Given the description of an element on the screen output the (x, y) to click on. 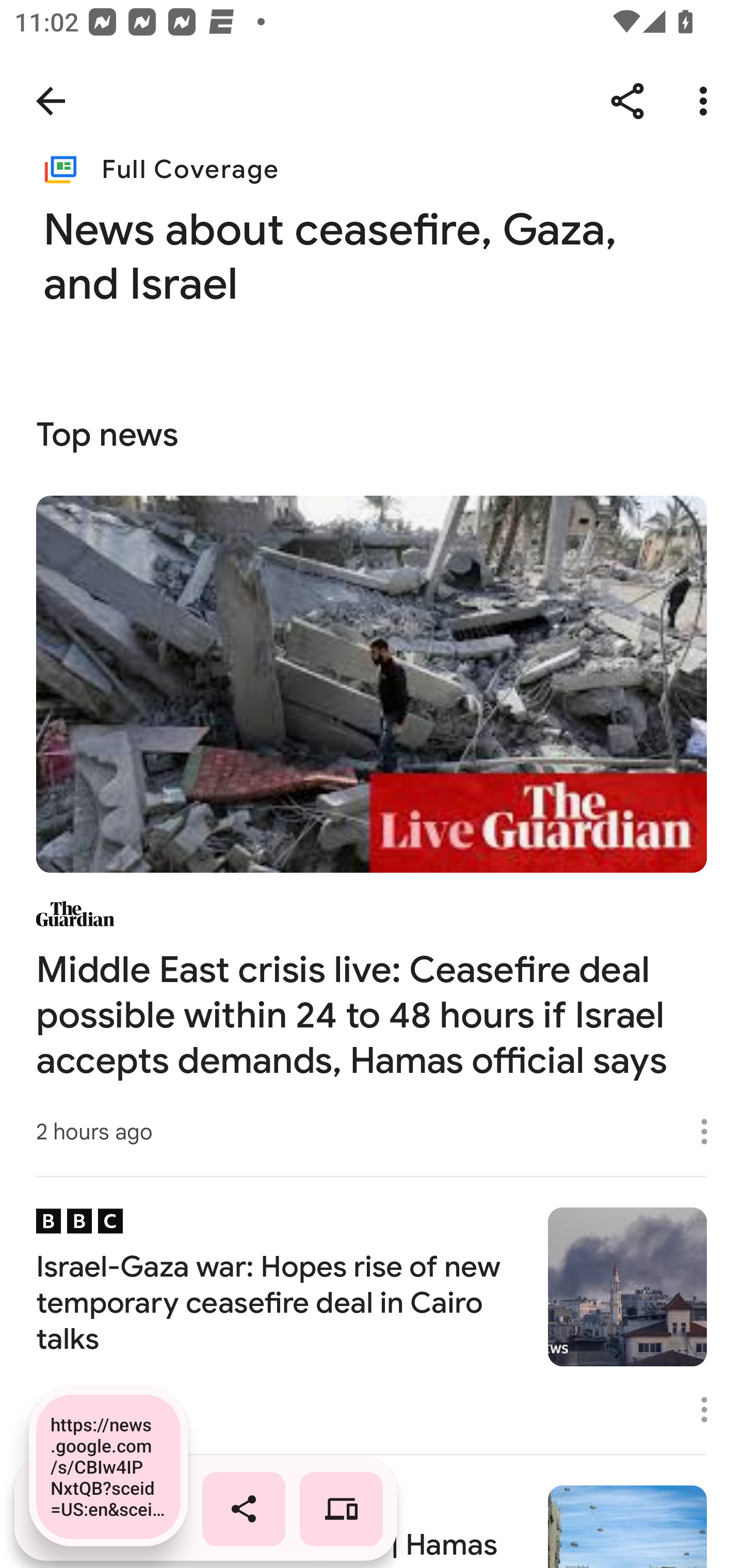
Navigate up (50, 101)
Share (626, 101)
More options (706, 101)
More options (711, 1131)
More options (711, 1409)
